Given the description of an element on the screen output the (x, y) to click on. 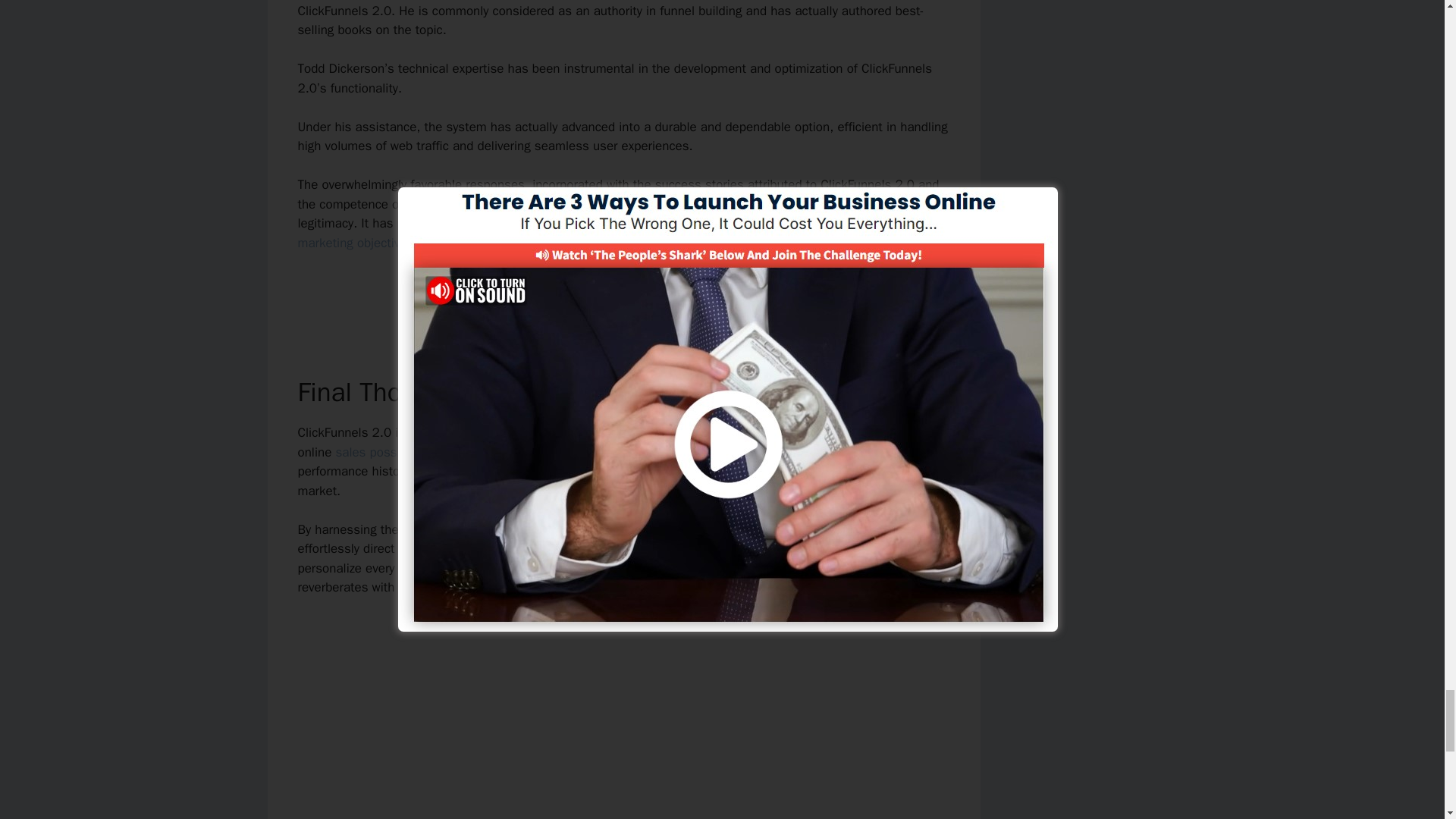
marketing objectives (355, 242)
Click Here To Test Out ClickFunnels 2.0 (622, 295)
sales possibility (379, 452)
